Given the description of an element on the screen output the (x, y) to click on. 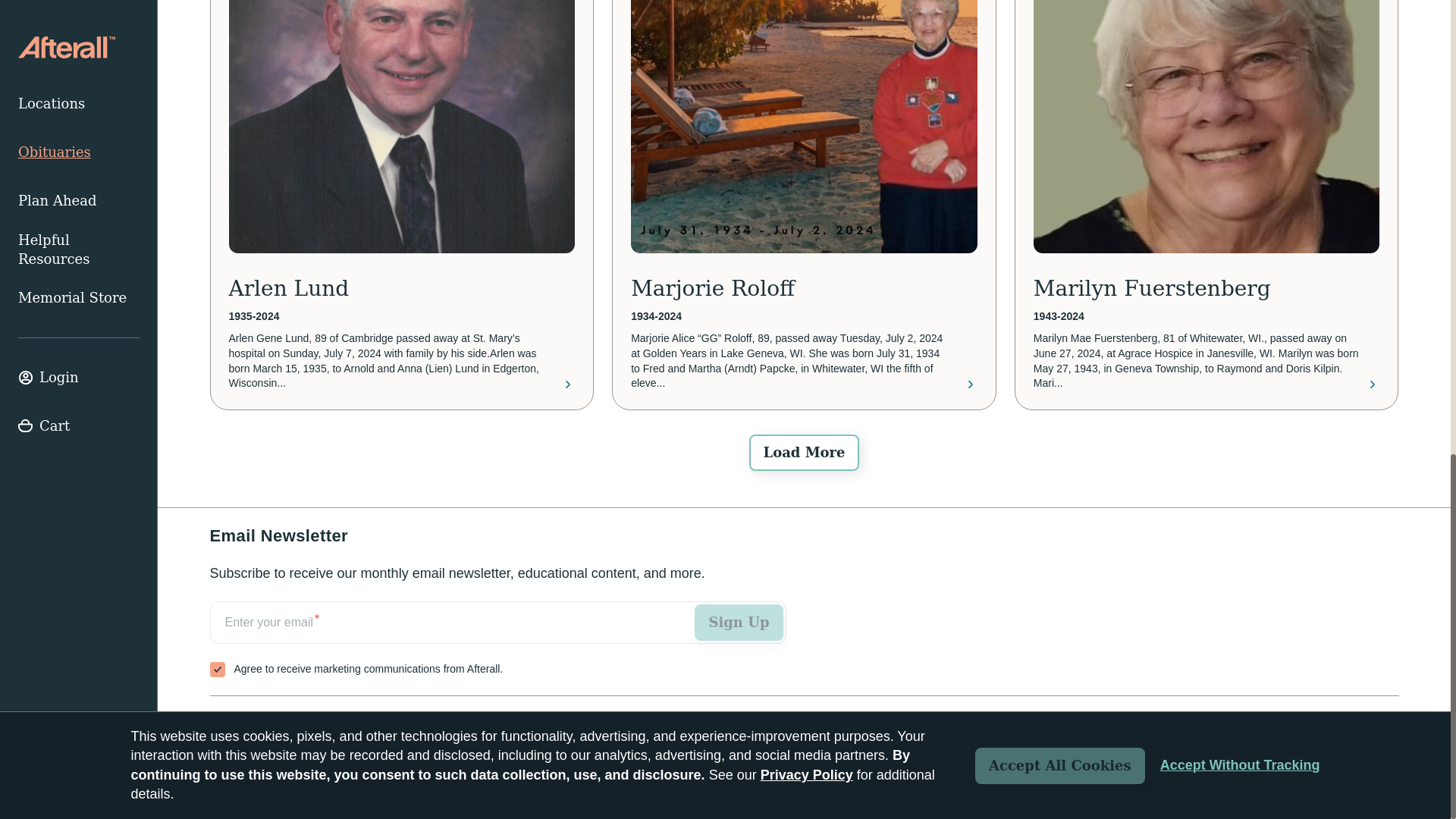
FAQs (341, 723)
Load More (804, 452)
Privacy Policy (1362, 777)
Track an Order (257, 723)
Sign Up (738, 622)
Email Newsletter (497, 639)
